Given the description of an element on the screen output the (x, y) to click on. 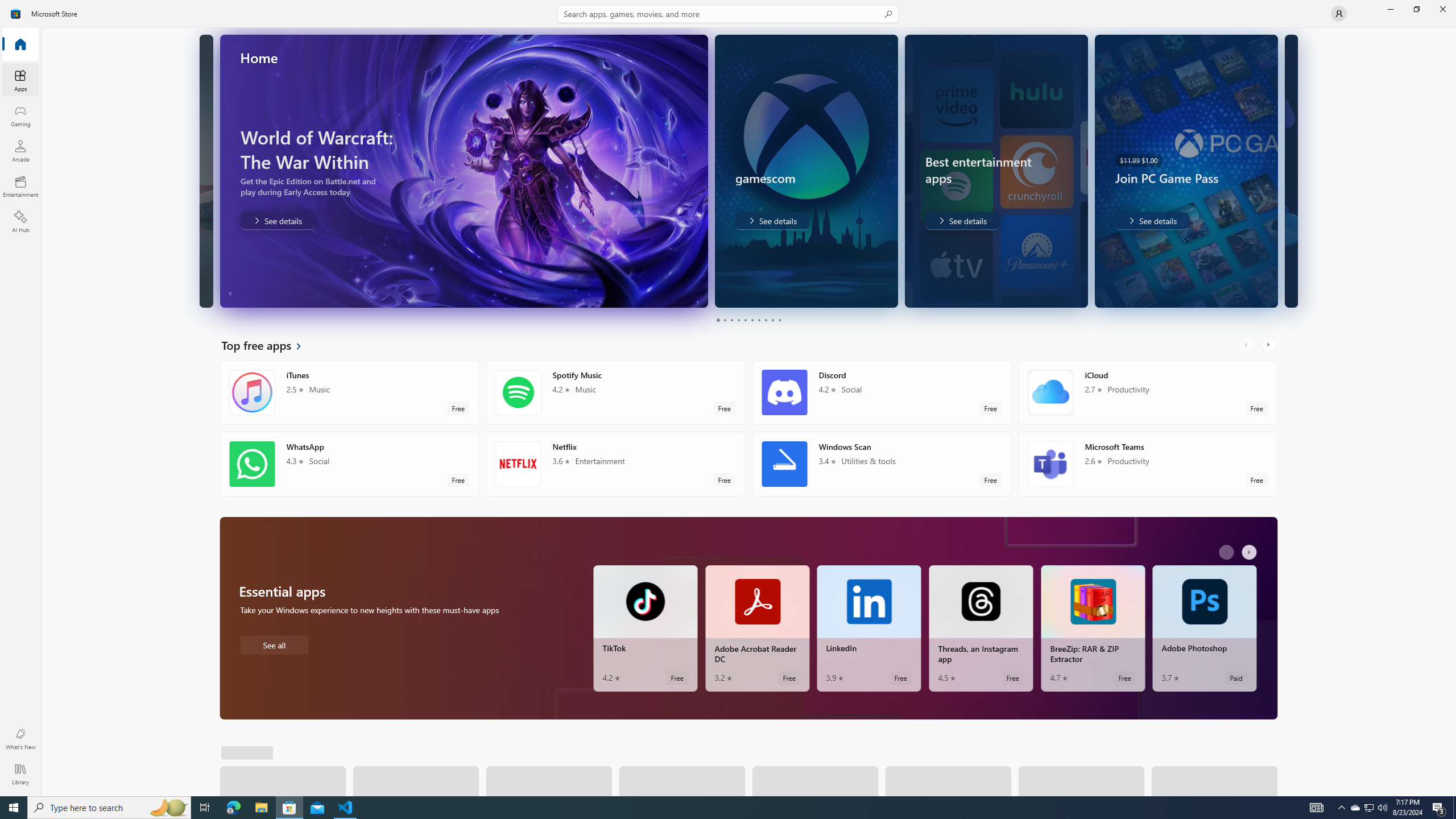
Page 3 (731, 319)
Arcade (20, 150)
AutomationID: NavigationControl (728, 398)
Class: Hyperlink (229, 750)
Page 10 (779, 319)
Pager (748, 319)
Class: Image (15, 13)
Page 2 (724, 319)
Home (20, 45)
Gaming (20, 115)
AutomationID: Image (1280, 170)
See all  Top free apps (268, 345)
